Given the description of an element on the screen output the (x, y) to click on. 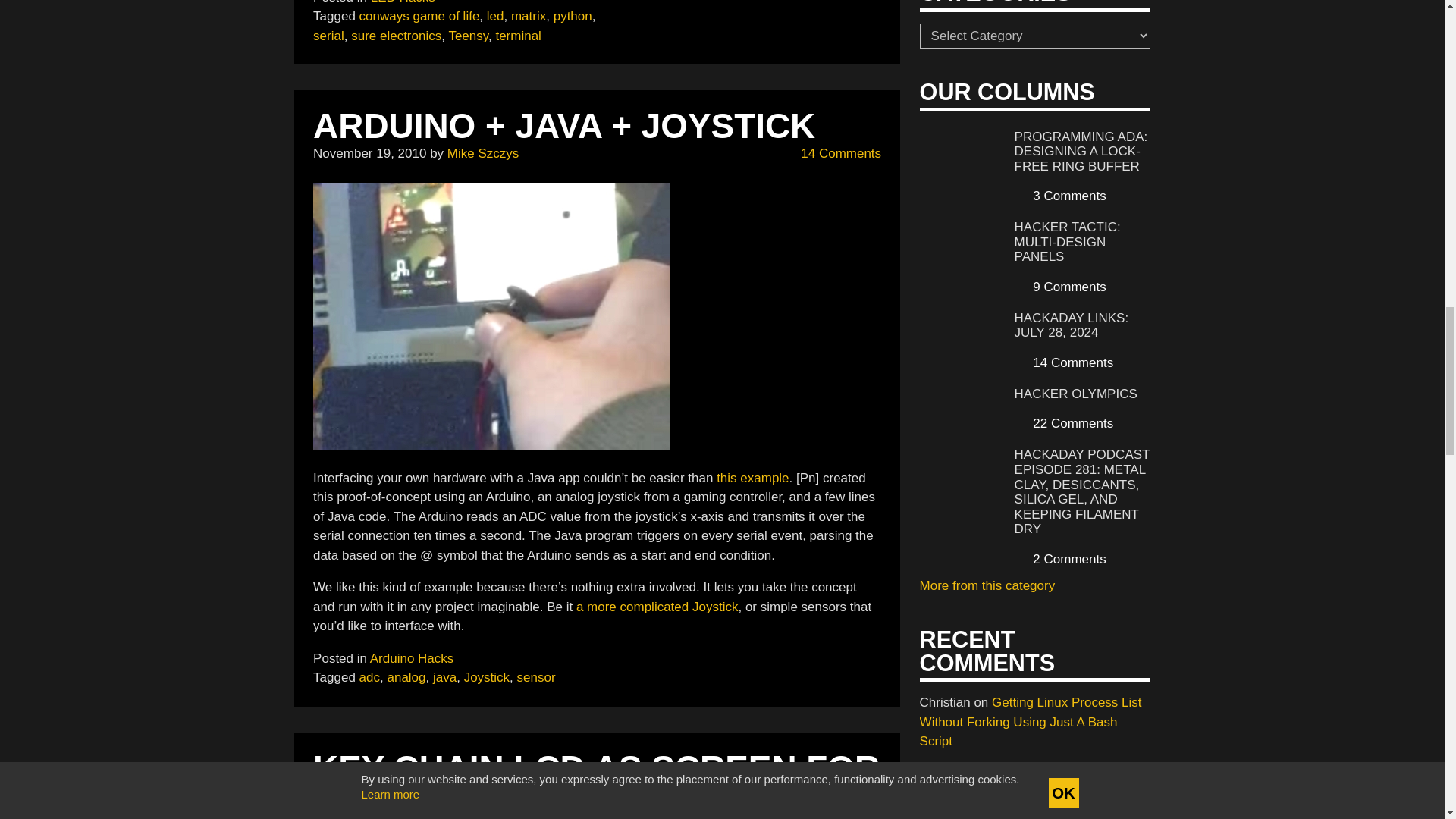
November 19, 2010 - 12:00 pm (369, 153)
Posts by Mike Szczys (482, 153)
arduino-joystick-java (491, 315)
